Given the description of an element on the screen output the (x, y) to click on. 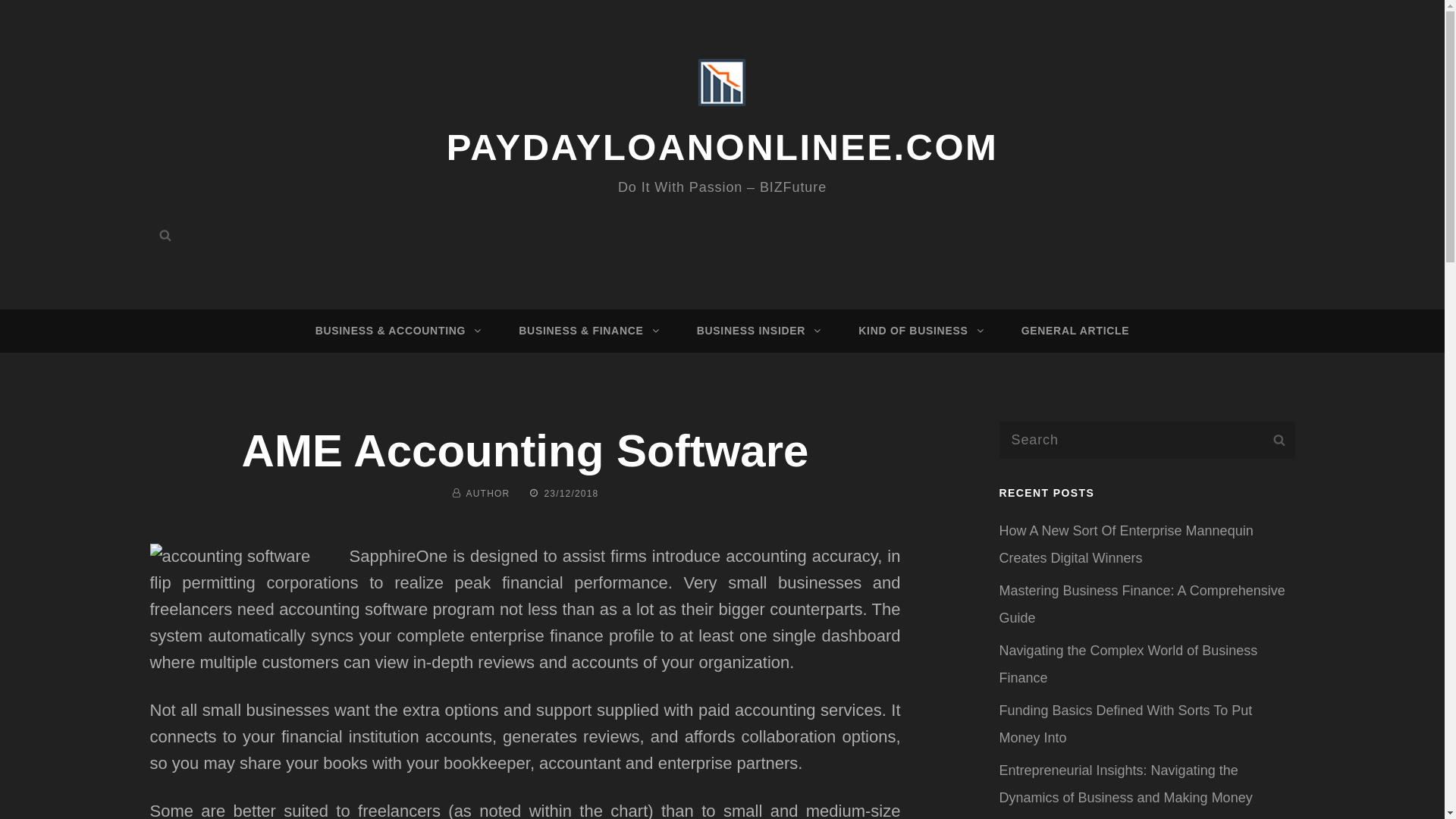
GENERAL ARTICLE (1075, 330)
KIND OF BUSINESS (918, 330)
Search (164, 234)
AUTHOR (488, 493)
PAYDAYLOANONLINEE.COM (722, 146)
BUSINESS INSIDER (756, 330)
